Given the description of an element on the screen output the (x, y) to click on. 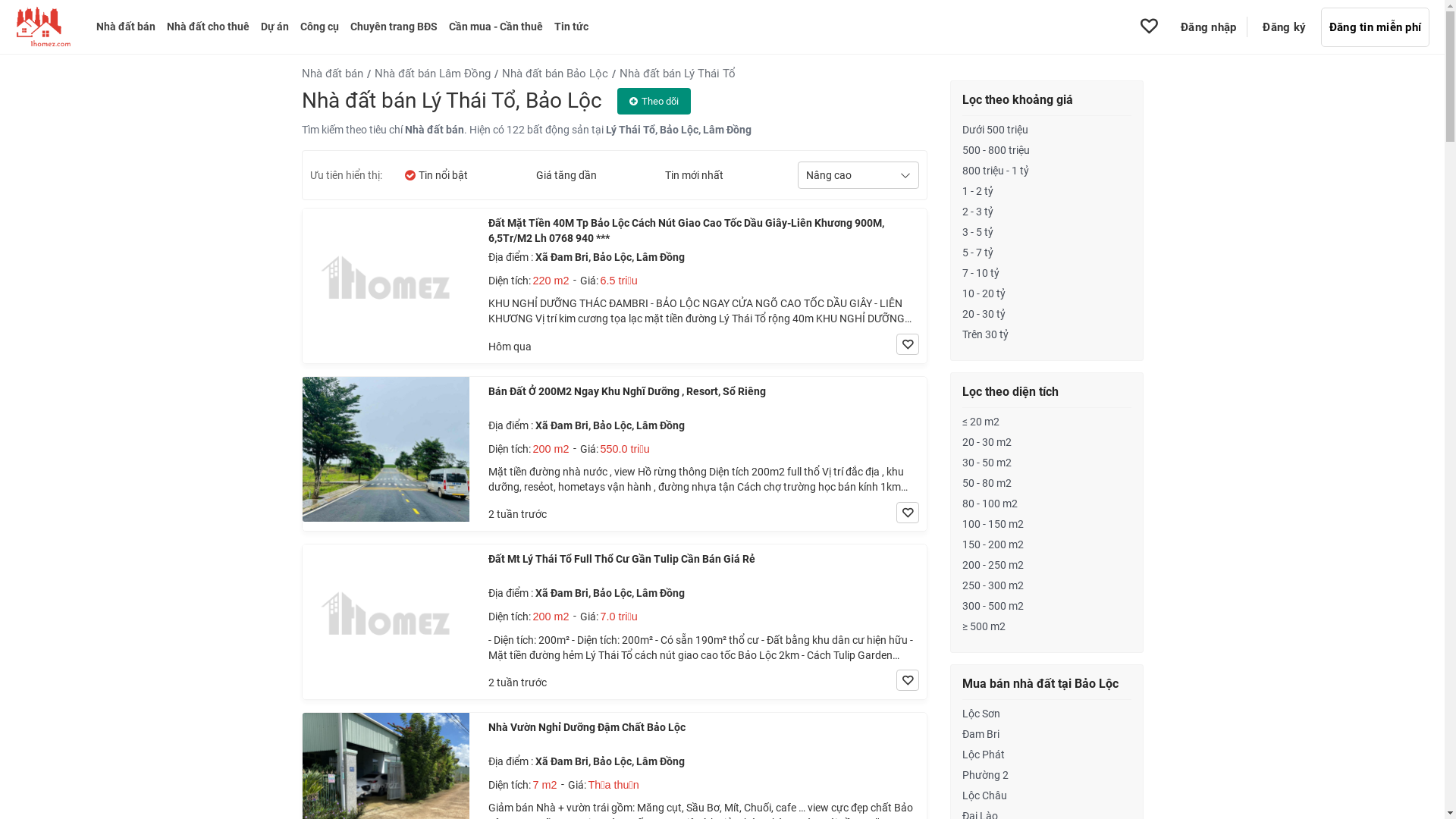
250 - 300 m2 Element type: text (1045, 585)
30 - 50 m2 Element type: text (1045, 462)
80 - 100 m2 Element type: text (1045, 503)
100 - 150 m2 Element type: text (1045, 523)
50 - 80 m2 Element type: text (1045, 482)
200 - 250 m2 Element type: text (1045, 564)
300 - 500 m2 Element type: text (1045, 605)
20 - 30 m2 Element type: text (1045, 442)
150 - 200 m2 Element type: text (1045, 544)
